Given the description of an element on the screen output the (x, y) to click on. 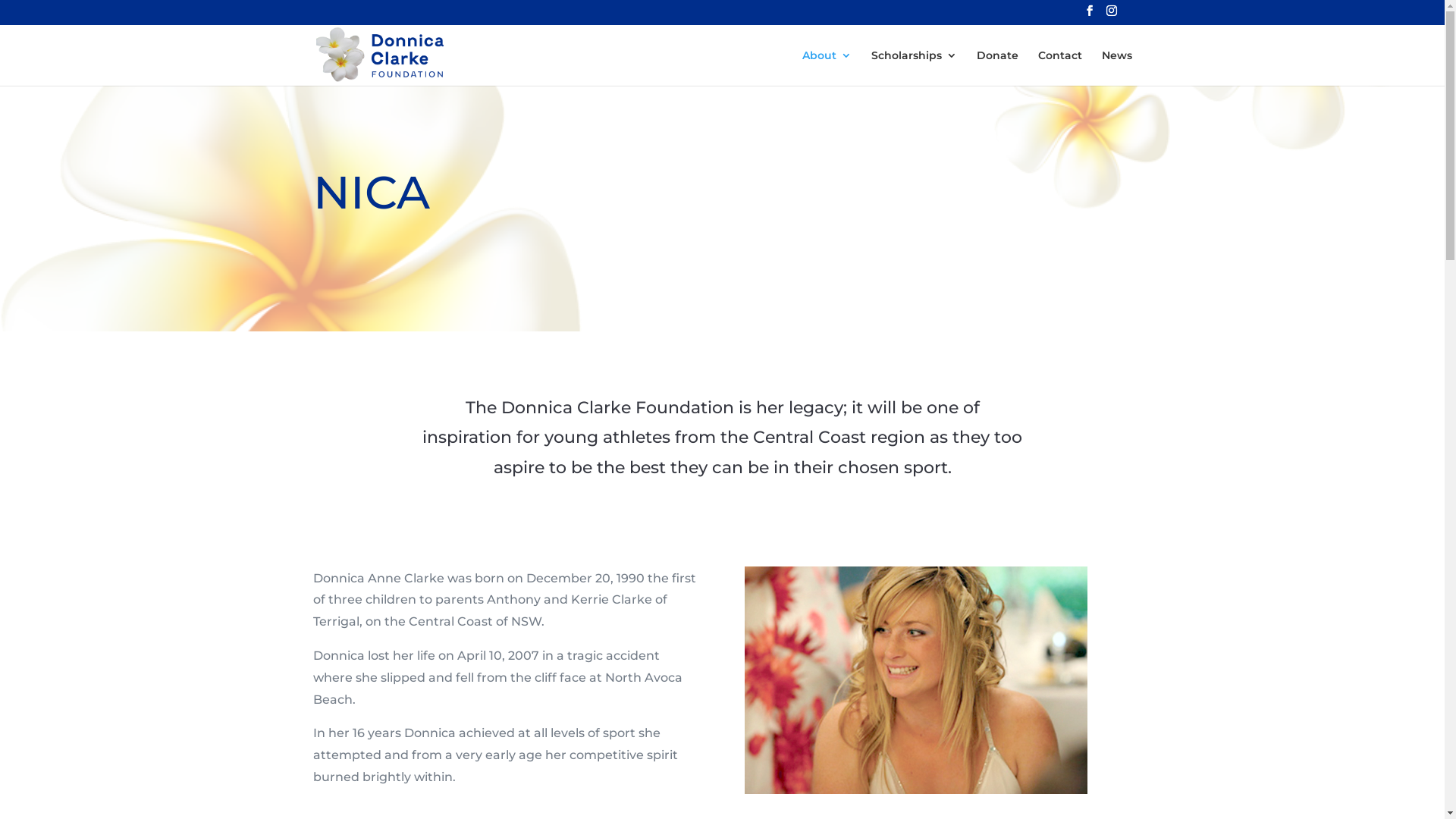
Scholarships Element type: text (913, 67)
Contact Element type: text (1059, 67)
nica-3b Element type: hover (915, 679)
News Element type: text (1116, 67)
Donate Element type: text (997, 67)
About Element type: text (826, 67)
